Given the description of an element on the screen output the (x, y) to click on. 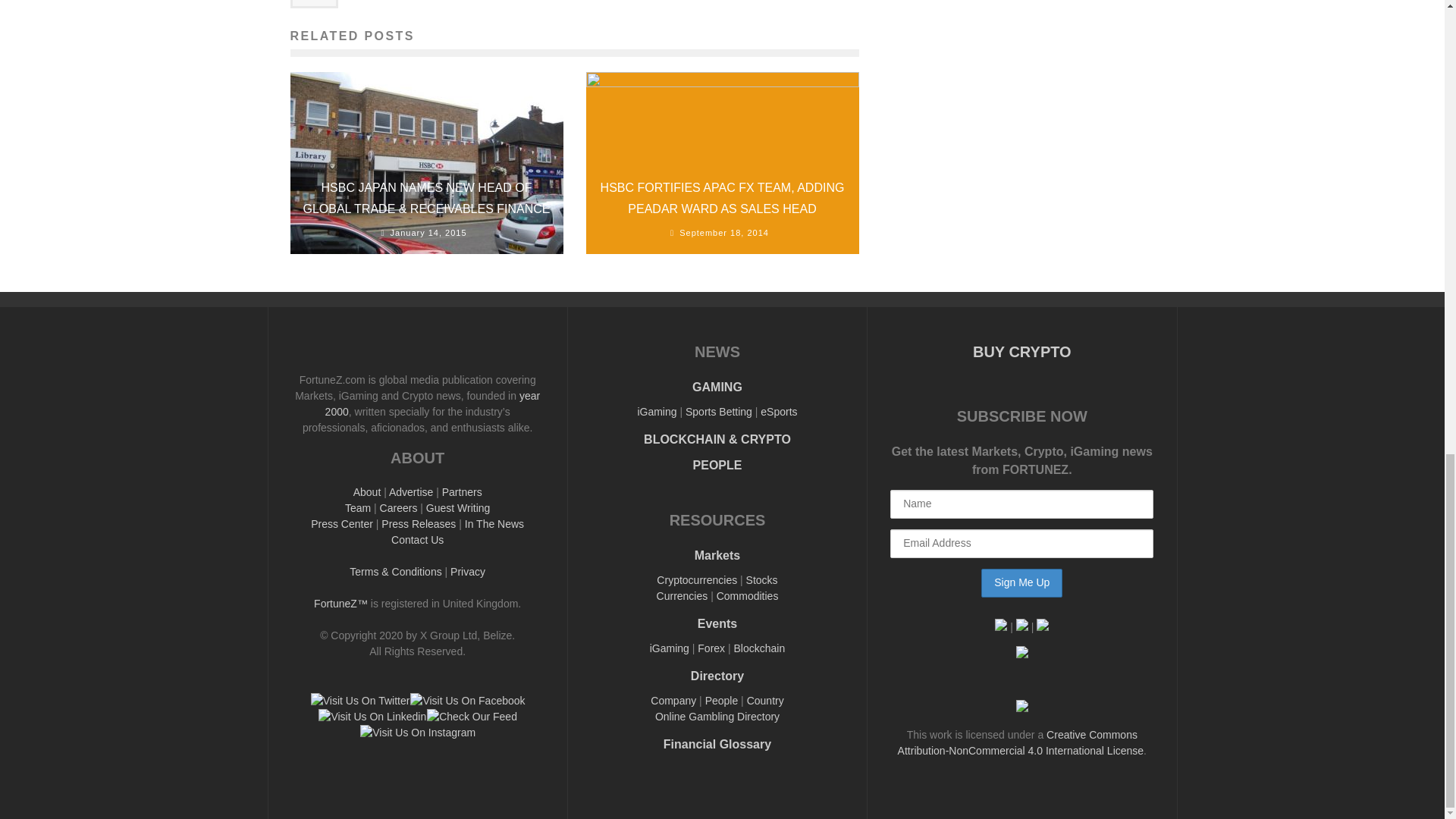
Visit Us On Twitter (360, 700)
Sign Me Up (1021, 582)
Visit Us On Facebook (466, 700)
Visit Us On Linkedin (371, 716)
